Given the description of an element on the screen output the (x, y) to click on. 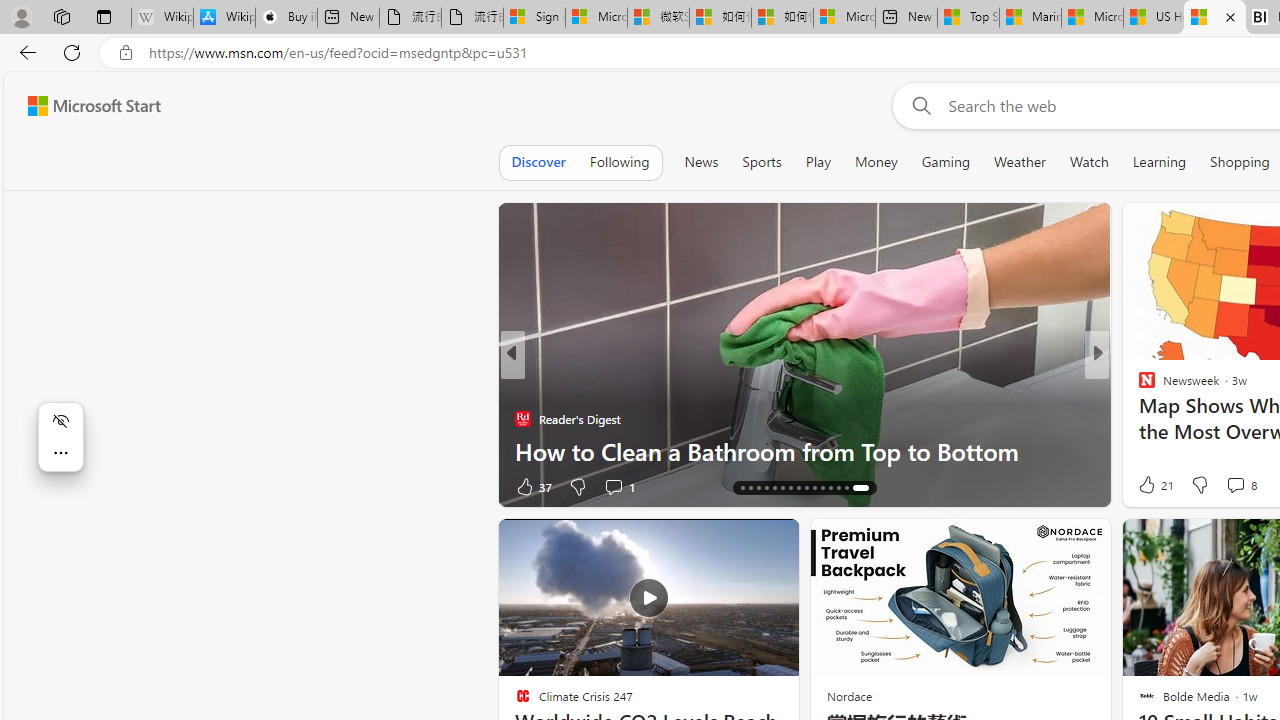
AutomationID: tab-29 (857, 487)
Axios Login (1138, 418)
View comments 157 Comment (1247, 486)
AutomationID: tab-24 (818, 487)
Like (1140, 486)
AutomationID: tab-16 (748, 487)
14 Like (1149, 486)
Watch (1089, 162)
Mini menu on text selection (61, 448)
Learning (1159, 161)
Vox.com (1138, 386)
Buy iPad - Apple (286, 17)
Gaming (945, 162)
AutomationID: tab-18 (769, 487)
